Given the description of an element on the screen output the (x, y) to click on. 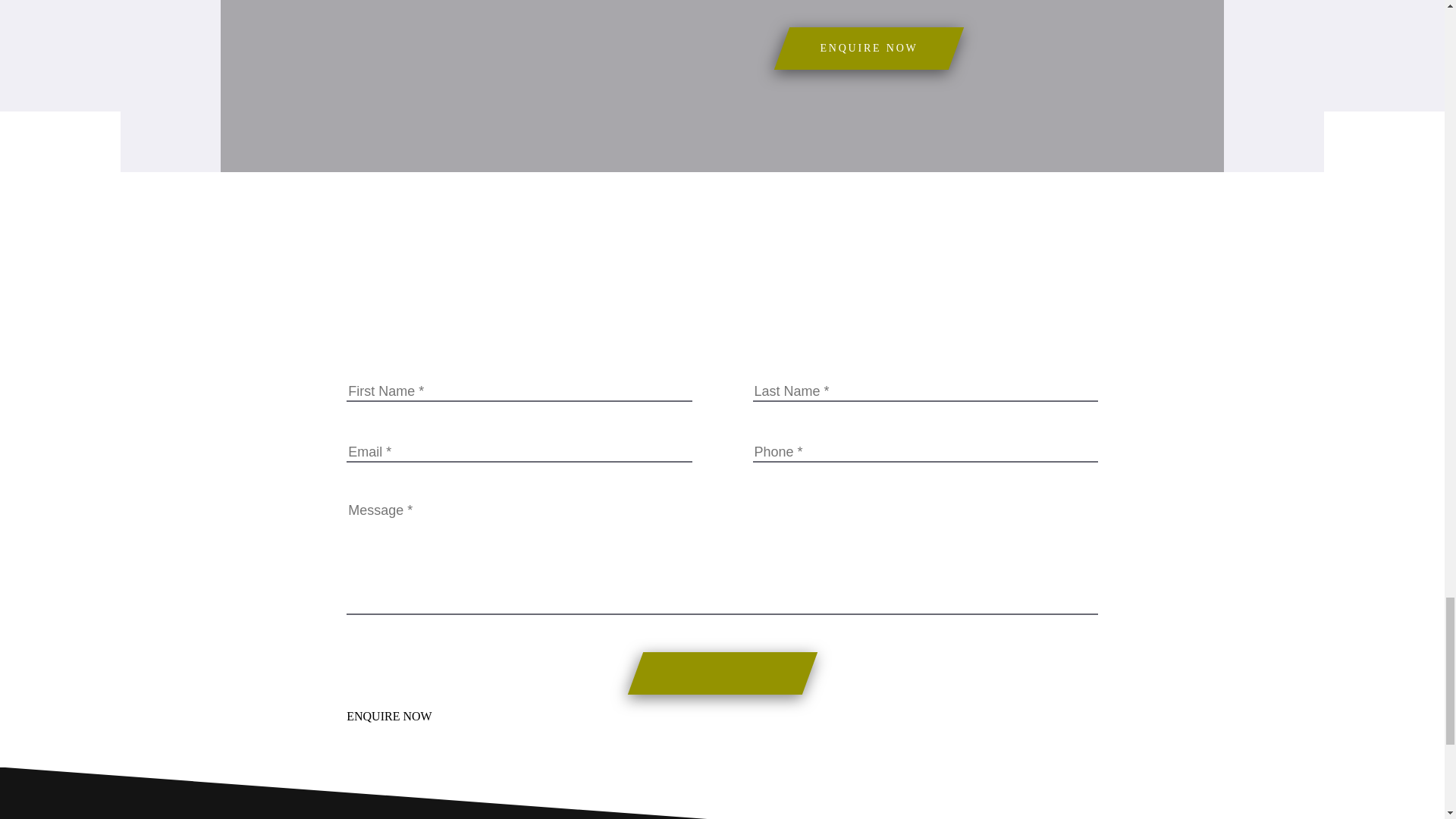
ENQUIRE NOW (868, 48)
FIND OUT MORE (702, 375)
FIND OUT MORE (702, 679)
FIND OUT MORE (702, 72)
